Given the description of an element on the screen output the (x, y) to click on. 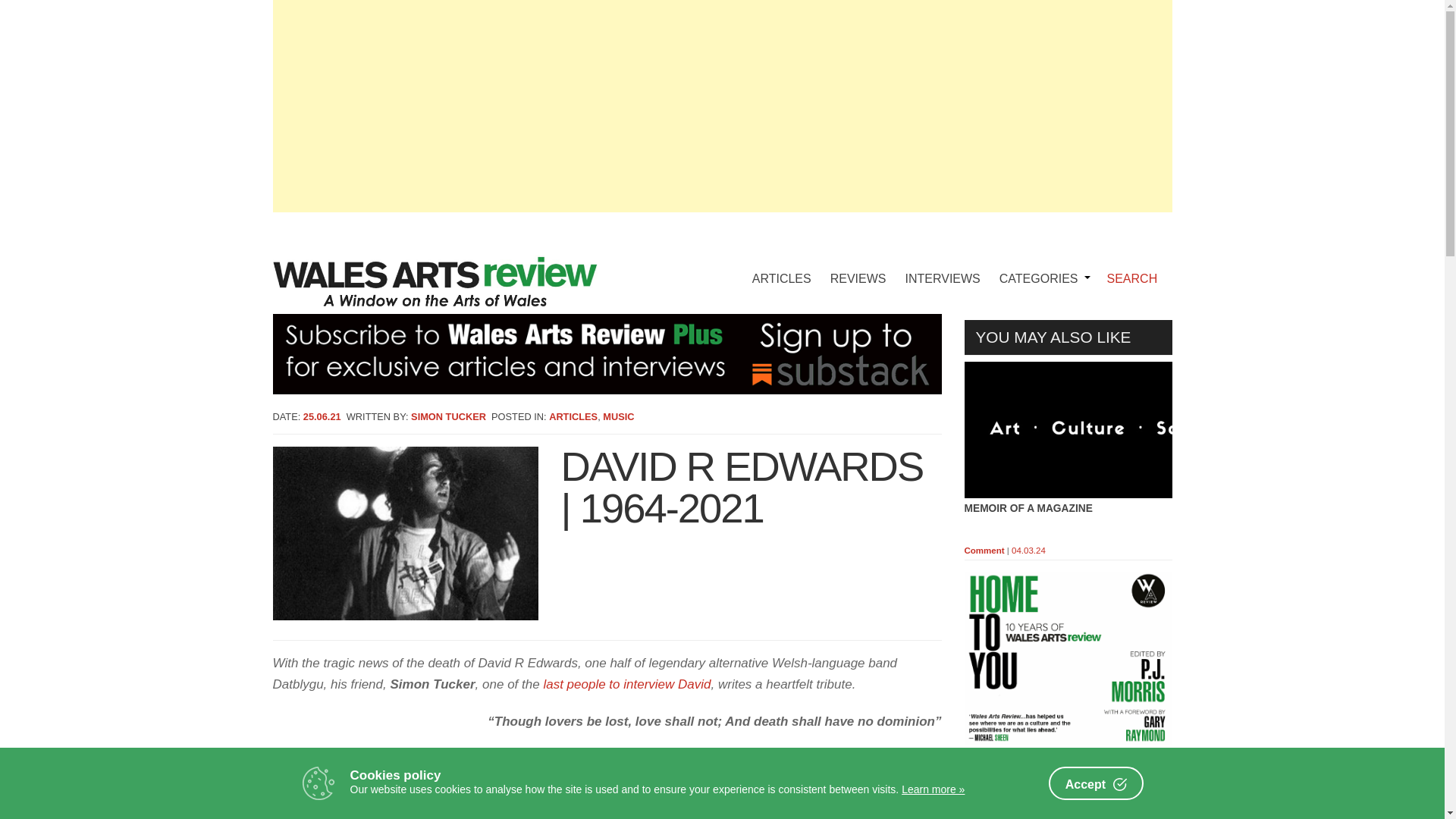
INTERVIEWS (943, 267)
ARTICLES (781, 267)
REVIEWS (858, 267)
Search for: (1137, 278)
25.06.21 (321, 416)
Advertisement (1067, 789)
CATEGORIES (1042, 267)
